Given the description of an element on the screen output the (x, y) to click on. 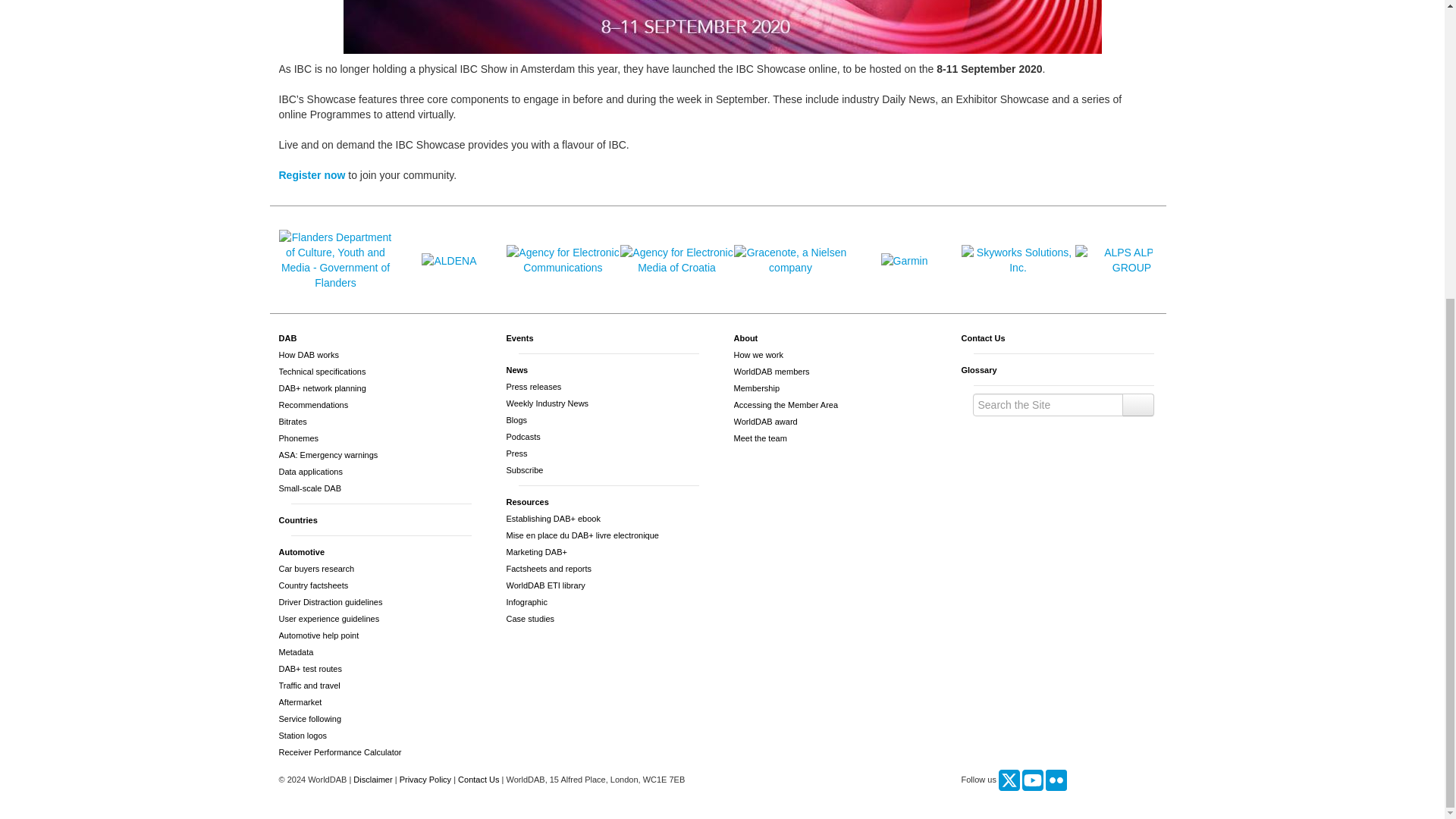
ALPS ALPINE GROUP (1132, 259)
Garmin (904, 260)
Gracenote, a Nielsen company (790, 259)
ALDENA (449, 260)
Register now (312, 174)
Agency for Electronic Media of Croatia (676, 259)
Agency for Electronic Communications (563, 259)
Skyworks Solutions, Inc. (1017, 259)
